Given the description of an element on the screen output the (x, y) to click on. 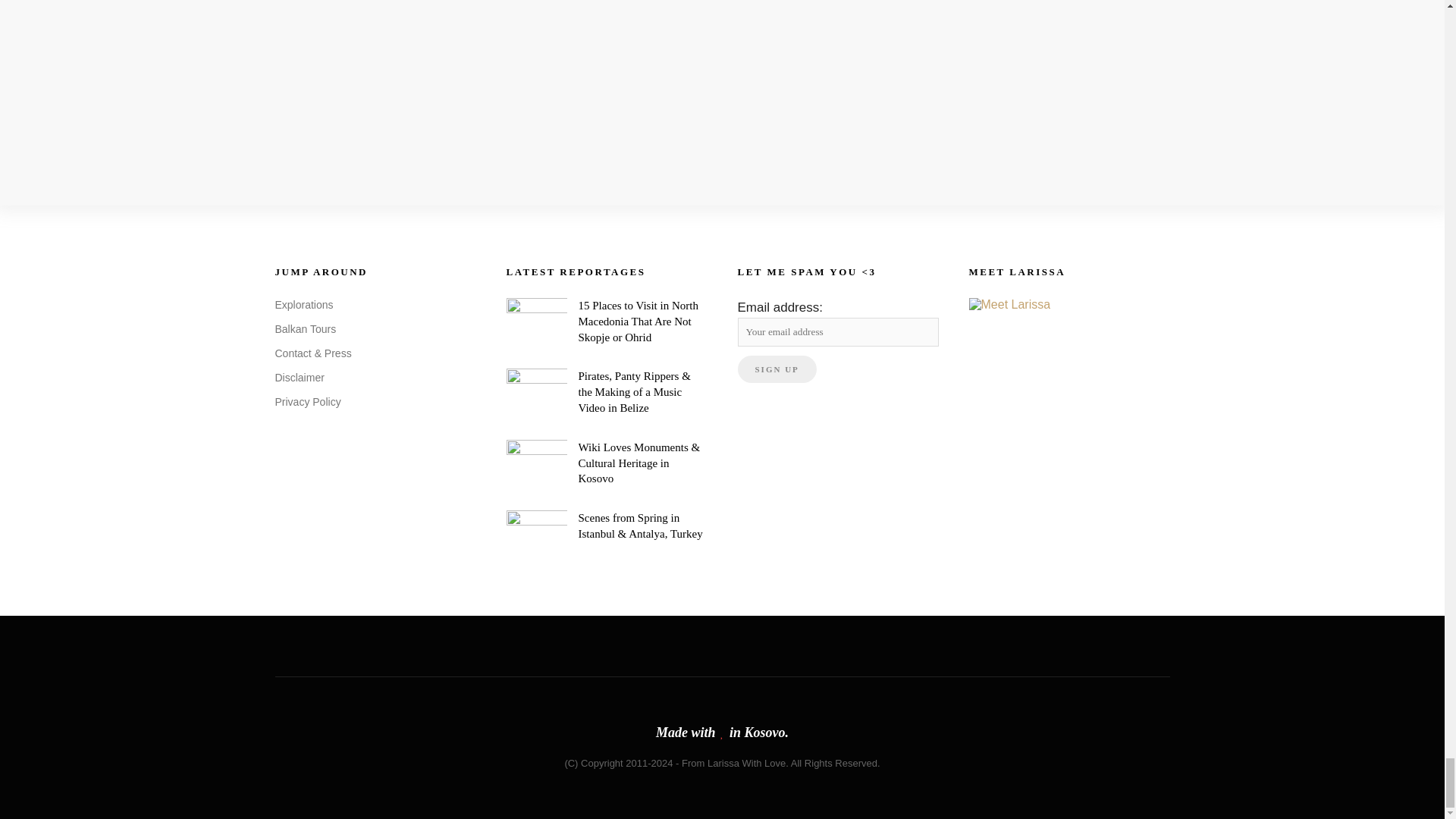
Sign up (775, 369)
